Given the description of an element on the screen output the (x, y) to click on. 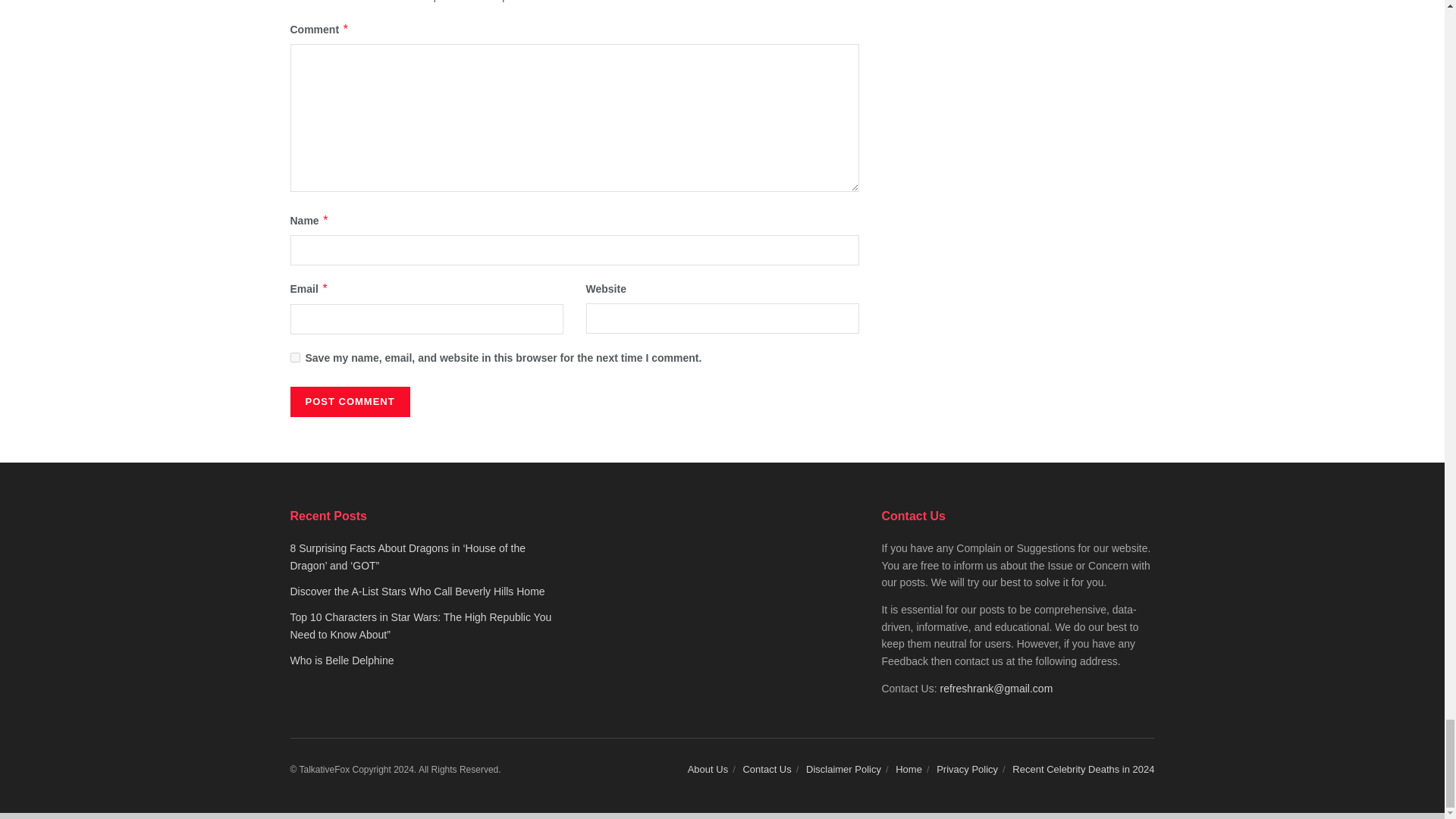
Post Comment (349, 401)
yes (294, 357)
